Given the description of an element on the screen output the (x, y) to click on. 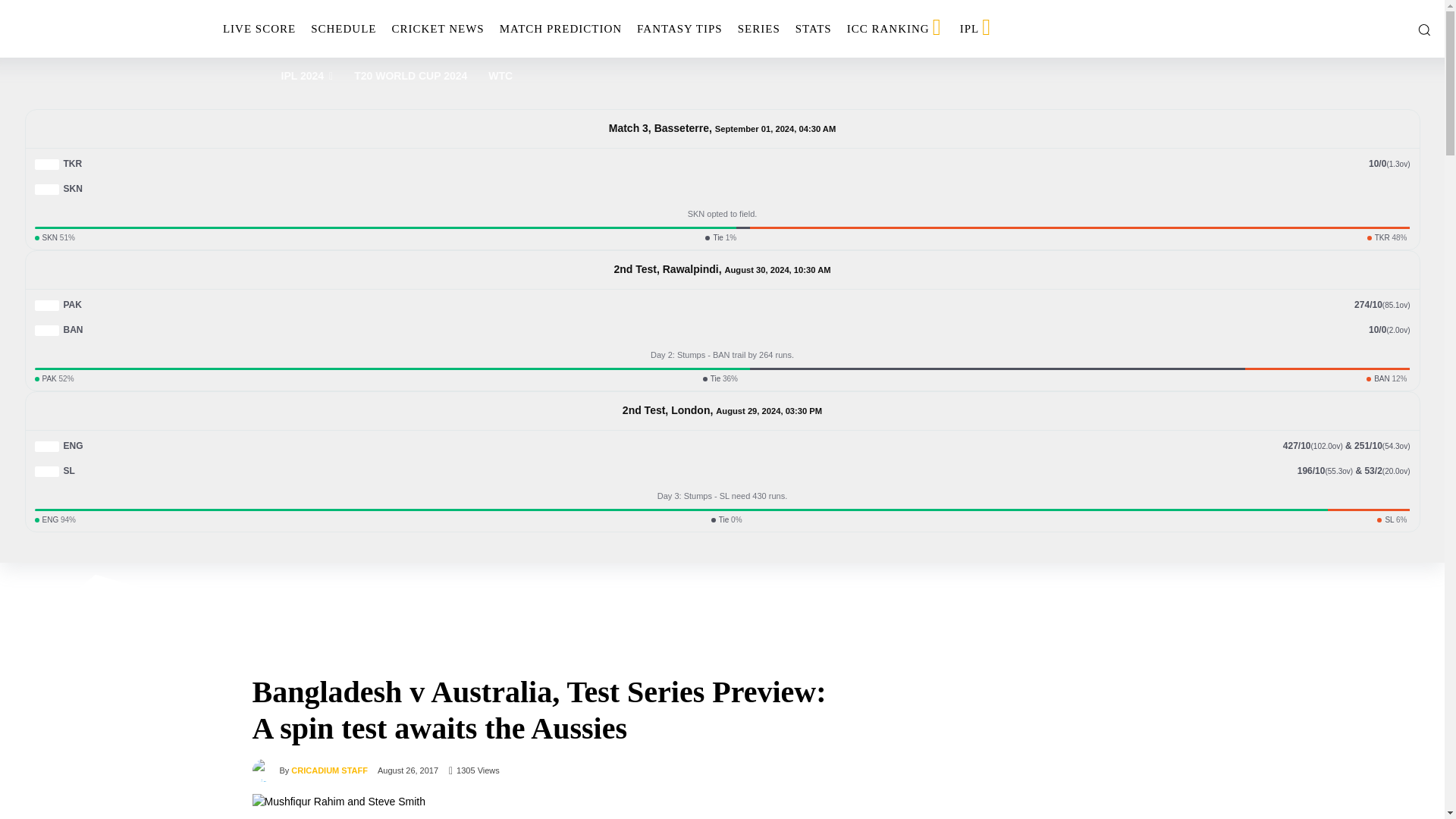
STATS (813, 28)
LIVE SCORE (258, 28)
Cricadium Staff (265, 770)
Cricadium (94, 28)
CRICKET NEWS (438, 28)
IPL (977, 28)
SERIES (758, 28)
SCHEDULE (343, 28)
Mushfiqur Rahim and Steve Smith (547, 806)
MATCH PREDICTION (560, 28)
